Given the description of an element on the screen output the (x, y) to click on. 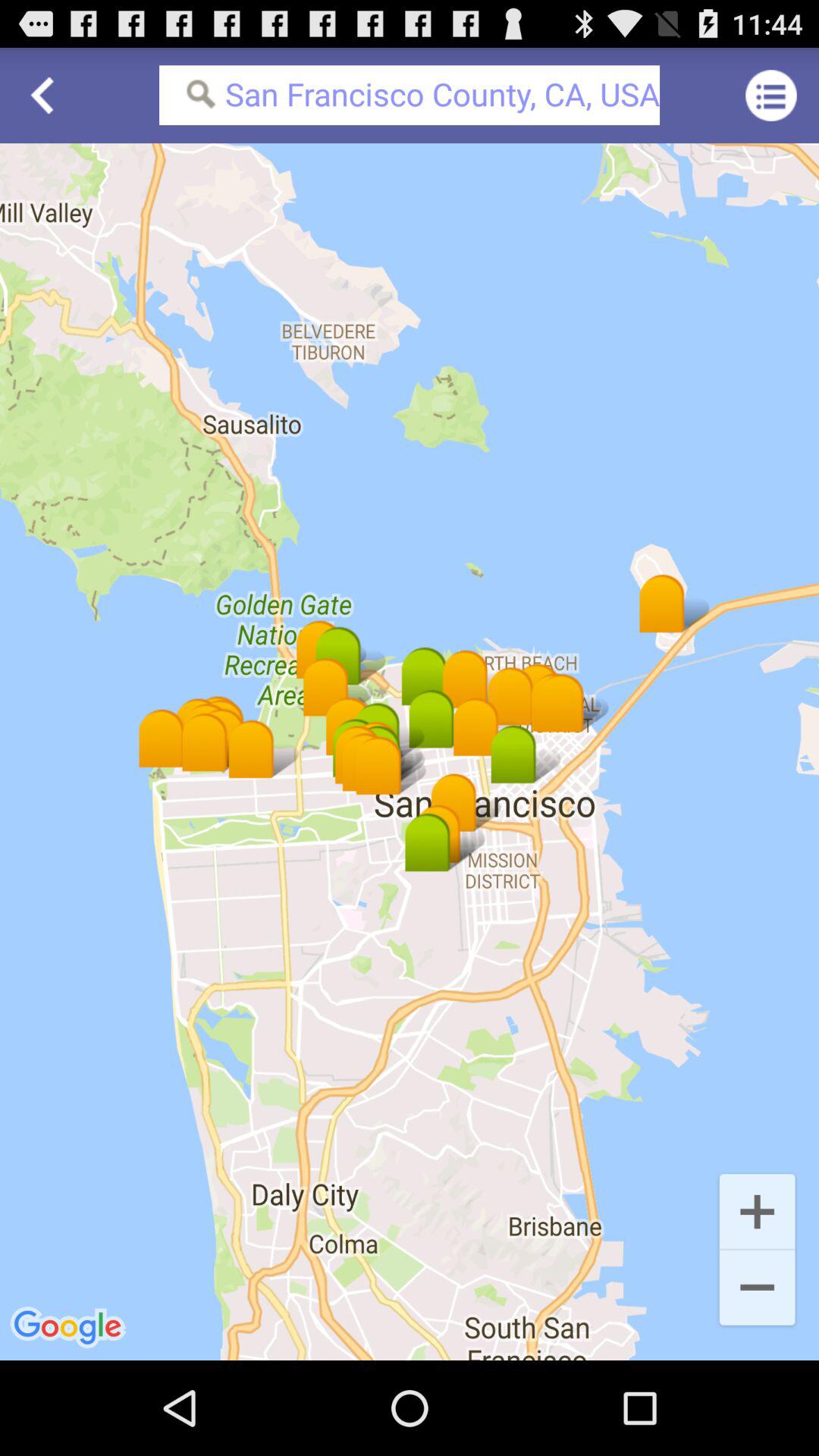
tap the app to the right of the san francisco county icon (771, 95)
